Given the description of an element on the screen output the (x, y) to click on. 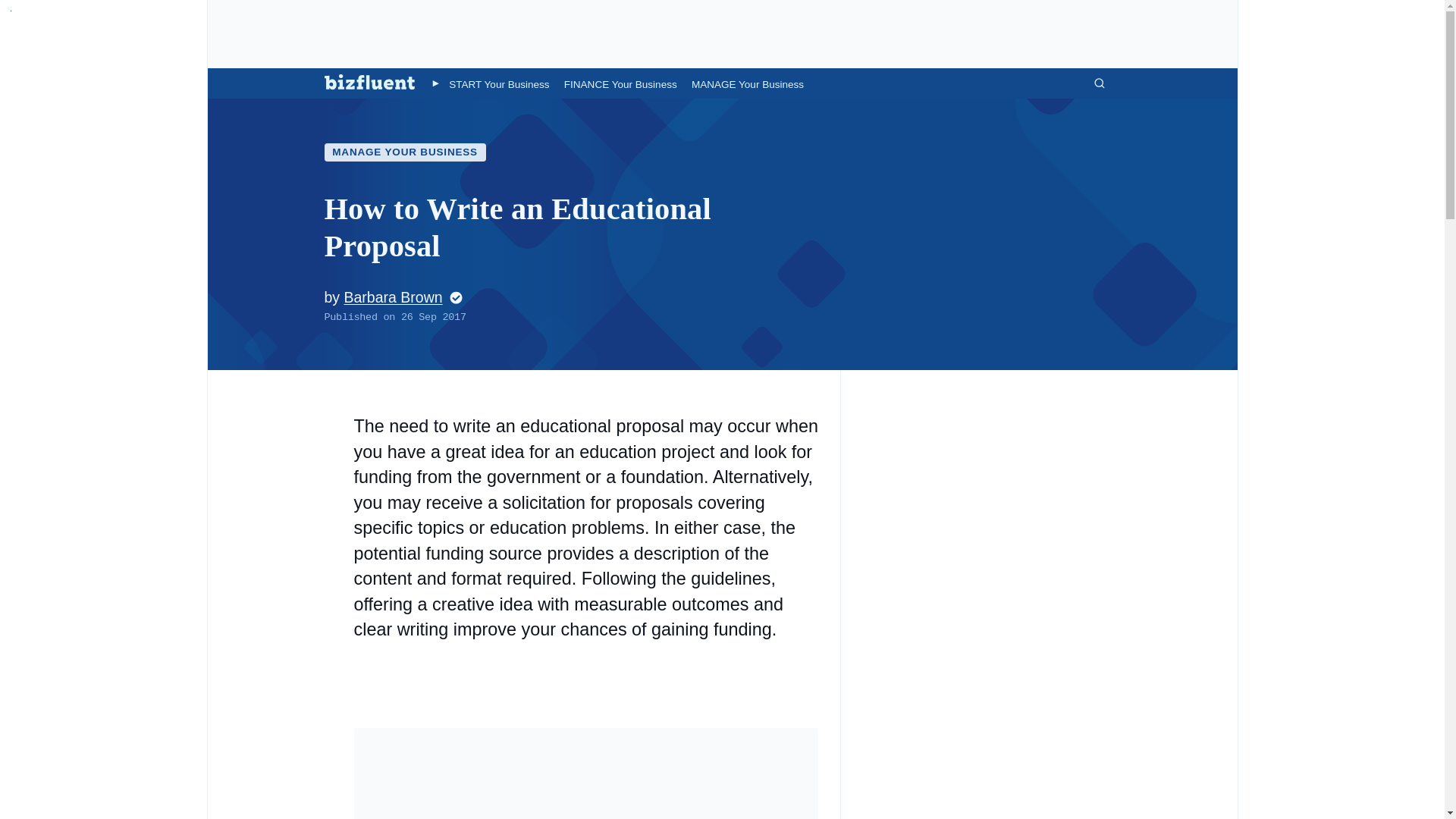
START Your Business (498, 84)
MANAGE Your Business (747, 84)
FINANCE Your Business (620, 84)
3rd party ad content (721, 33)
Advertisement (585, 773)
